Given the description of an element on the screen output the (x, y) to click on. 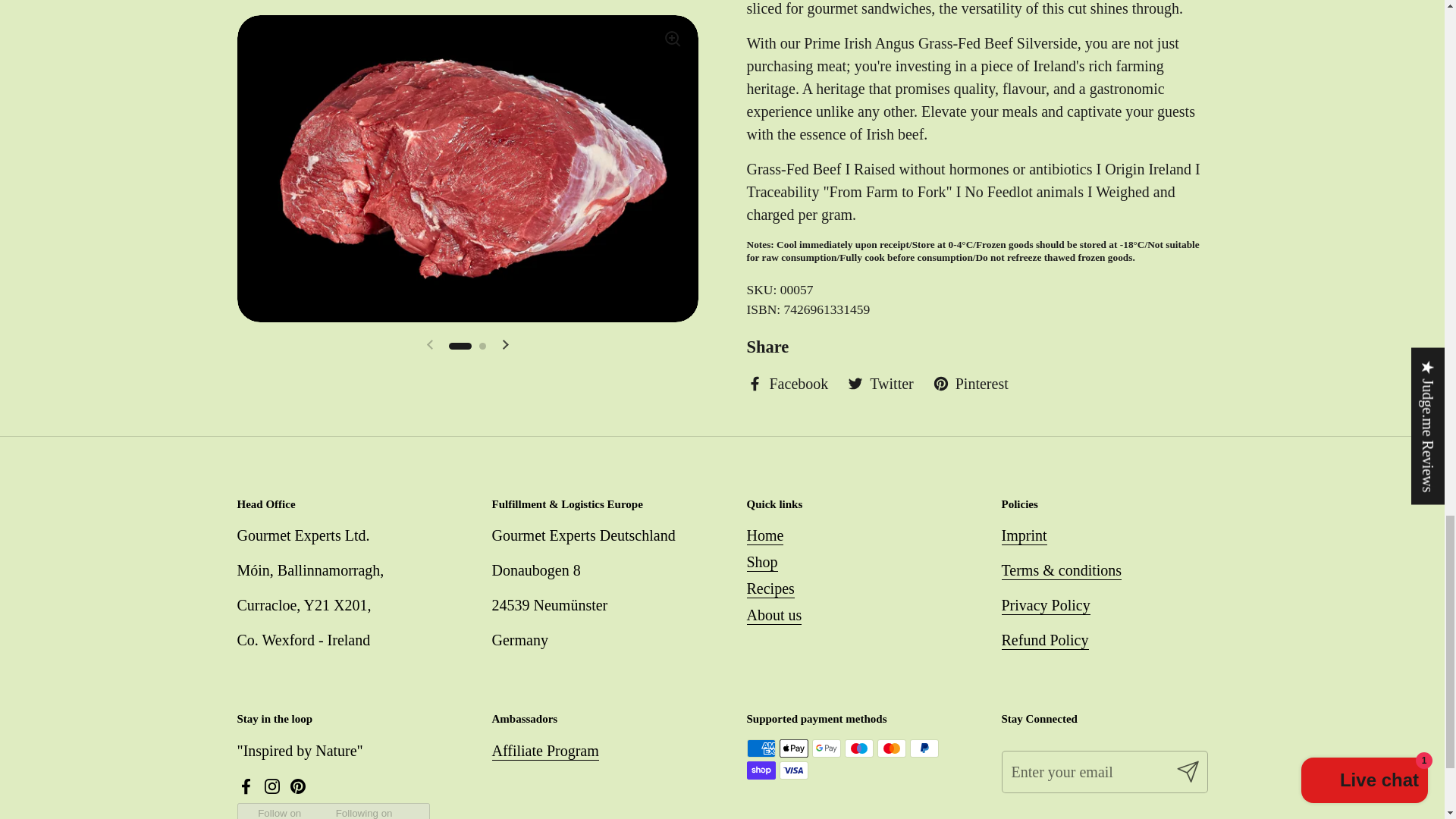
Privacy Policy (1045, 606)
Contact Information (1023, 536)
Share on pinterest (971, 383)
Terms of Service (1061, 570)
Share on facebook (786, 383)
Refund Policy (1044, 640)
Share on twitter (879, 383)
